Given the description of an element on the screen output the (x, y) to click on. 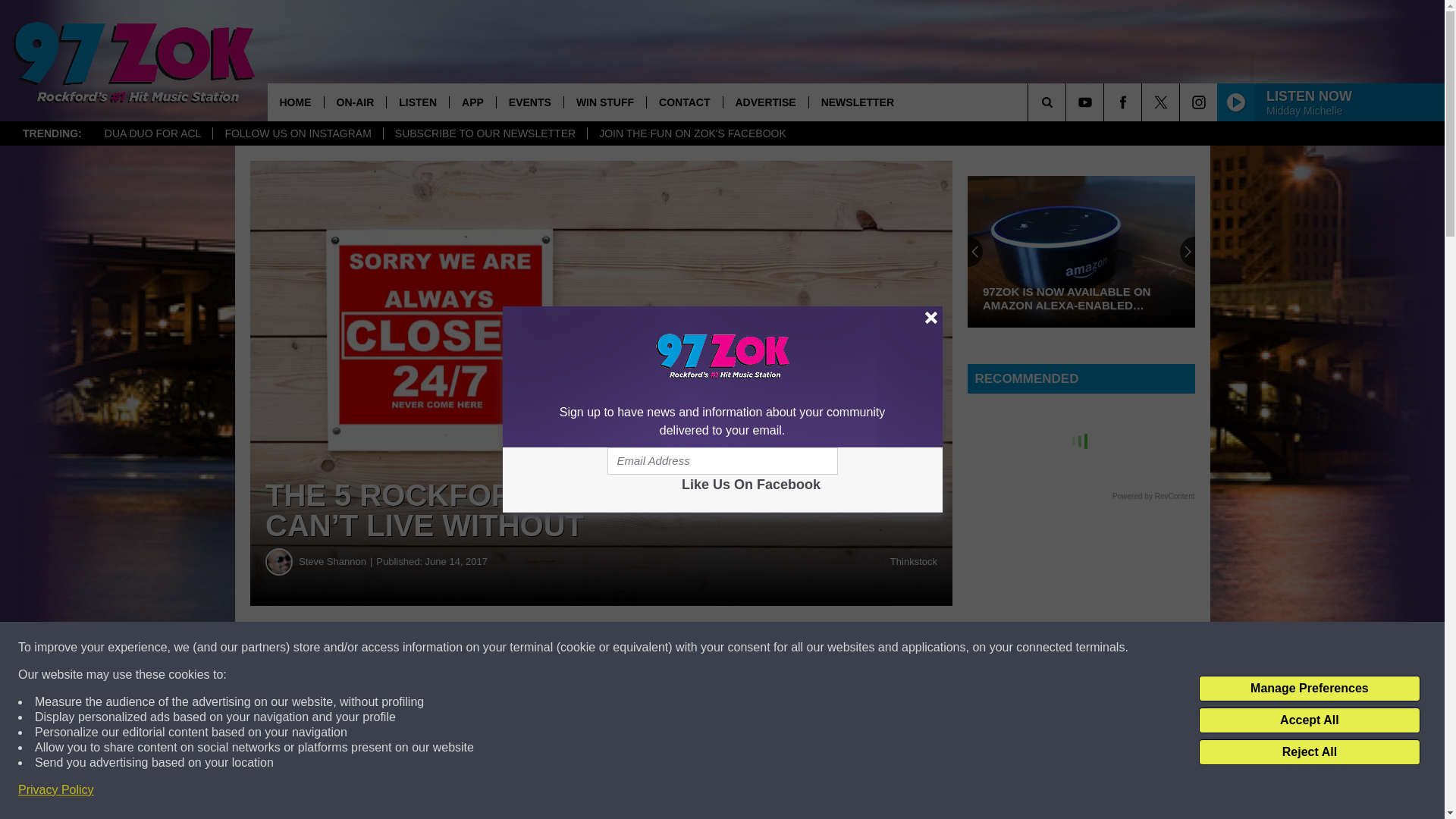
SEARCH (1068, 102)
APP (472, 102)
HOME (294, 102)
Share on Twitter (741, 647)
ON-AIR (354, 102)
CONTACT (684, 102)
TRENDING: (52, 133)
Reject All (1309, 751)
LISTEN (416, 102)
Share on Facebook (460, 647)
JOIN THE FUN ON ZOK'S FACEBOOK (691, 133)
Privacy Policy (55, 789)
SEARCH (1068, 102)
SUBSCRIBE TO OUR NEWSLETTER (484, 133)
WIN STUFF (604, 102)
